Given the description of an element on the screen output the (x, y) to click on. 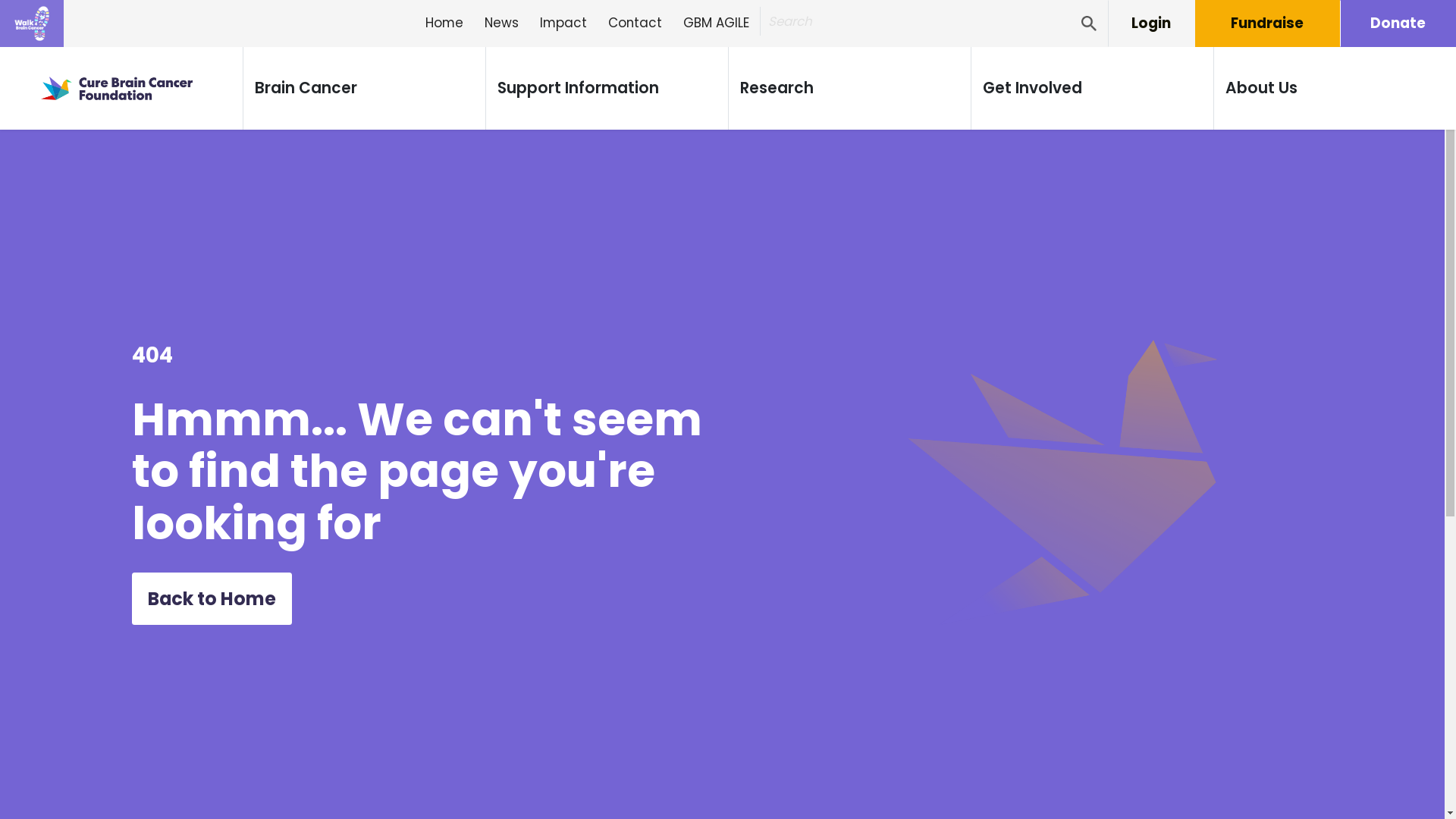
GBM AGILE Element type: text (715, 23)
Research Element type: text (776, 88)
Back to Home Element type: text (211, 598)
Home Element type: text (443, 23)
Impact Element type: text (563, 23)
About Us Element type: text (1261, 88)
Contact Element type: text (634, 23)
Get Involved Element type: text (1032, 88)
News Element type: text (501, 23)
Login Element type: text (1151, 23)
Support Information Element type: text (577, 88)
Fundraise Element type: text (1267, 23)
Brain Cancer Element type: text (305, 88)
